Given the description of an element on the screen output the (x, y) to click on. 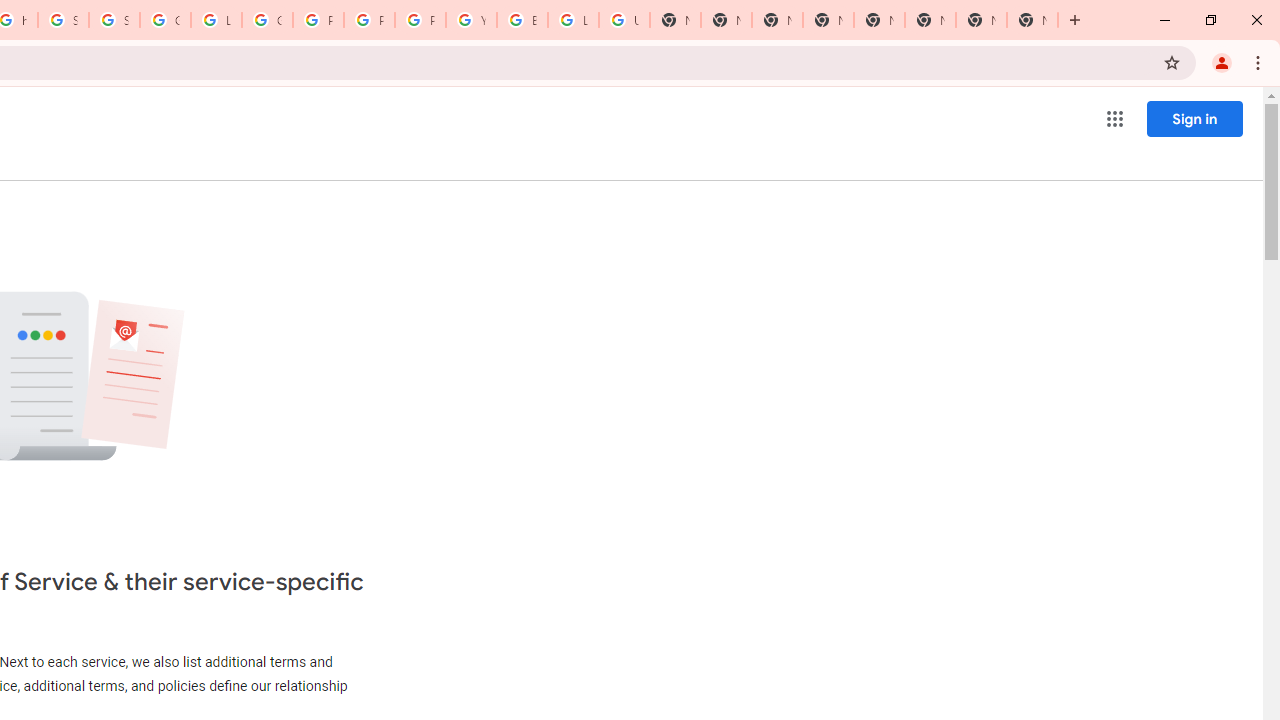
Privacy Help Center - Policies Help (369, 20)
Sign in - Google Accounts (113, 20)
Sign in - Google Accounts (63, 20)
New Tab (1032, 20)
YouTube (470, 20)
